Given the description of an element on the screen output the (x, y) to click on. 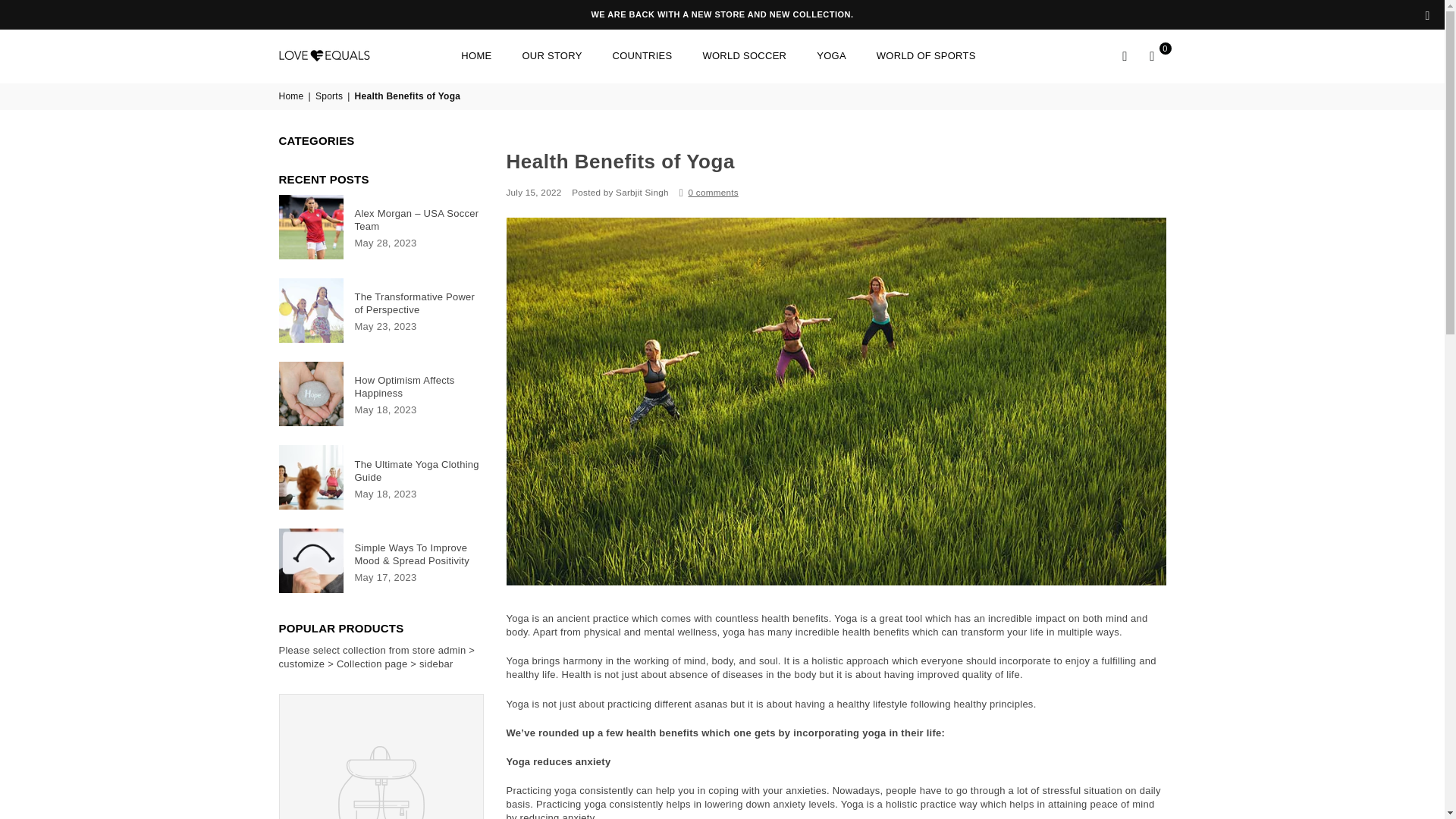
WORLD SOCCER (743, 56)
HOME (475, 56)
How Optimism Affects Happiness (419, 386)
OUR STORY (551, 56)
yoga reduces anxiety (558, 761)
COUNTRIES (642, 56)
transform your life (1001, 632)
Sports (330, 96)
Home (292, 96)
Back to the home page (292, 96)
